Given the description of an element on the screen output the (x, y) to click on. 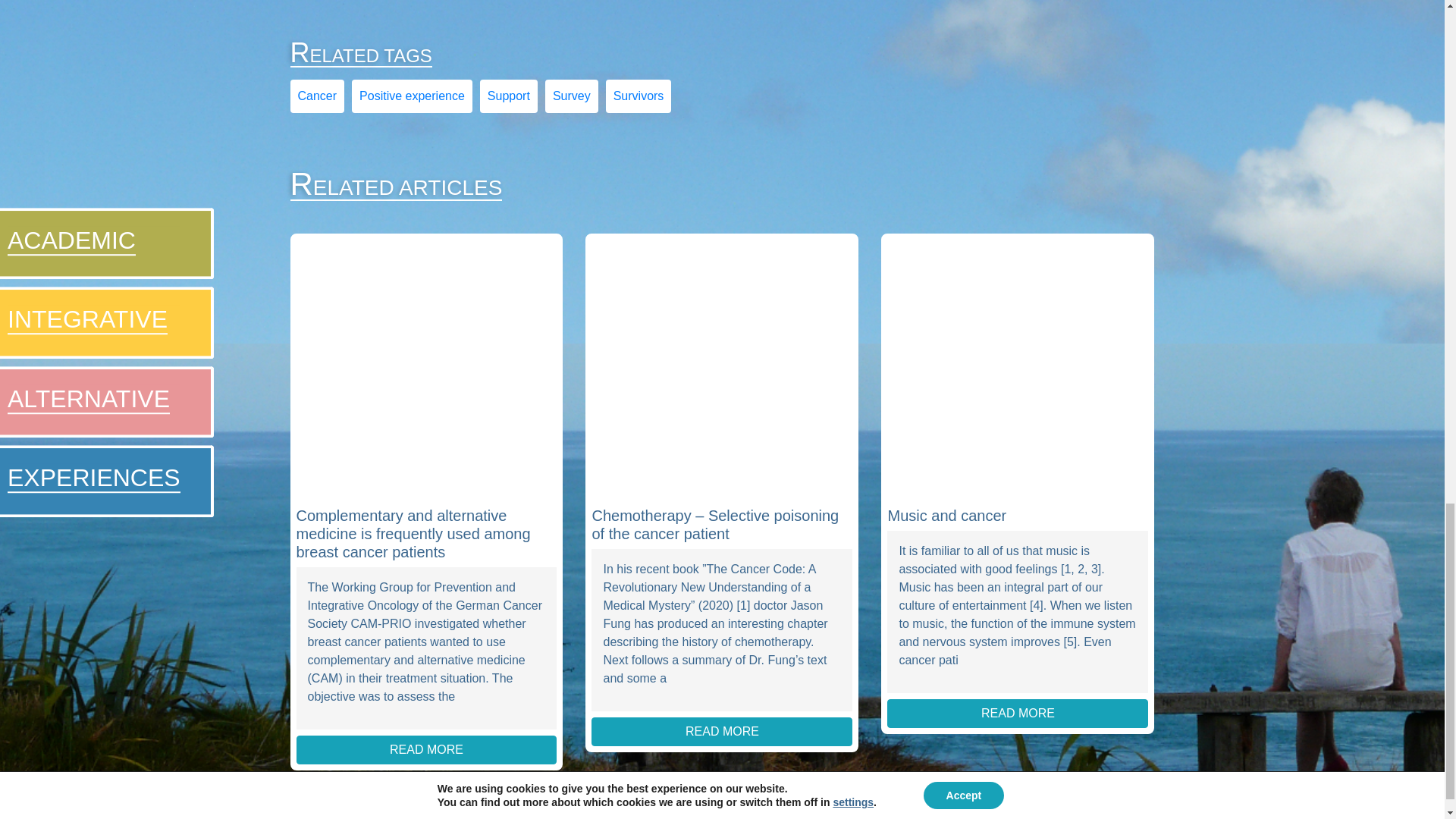
READ MORE (425, 749)
READ MORE (1017, 713)
READ MORE (721, 731)
Survivors (637, 95)
Positive experience (411, 95)
Cancer (316, 95)
Support (508, 95)
Survey (572, 95)
